Given the description of an element on the screen output the (x, y) to click on. 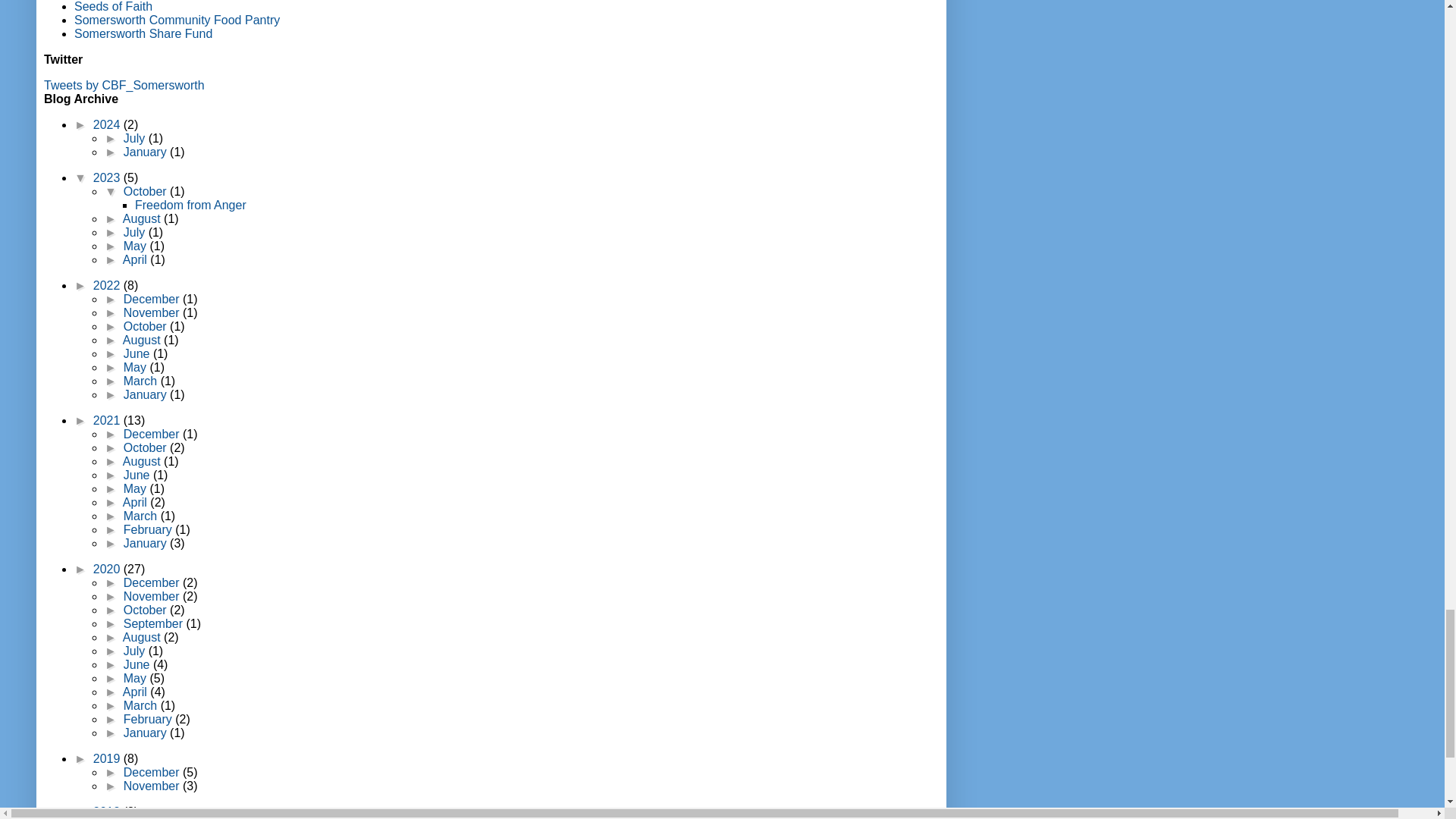
Somersworth Community Food Pantry (176, 19)
Somersworth Share Fund (143, 33)
Seeds of Faith (113, 6)
